Given the description of an element on the screen output the (x, y) to click on. 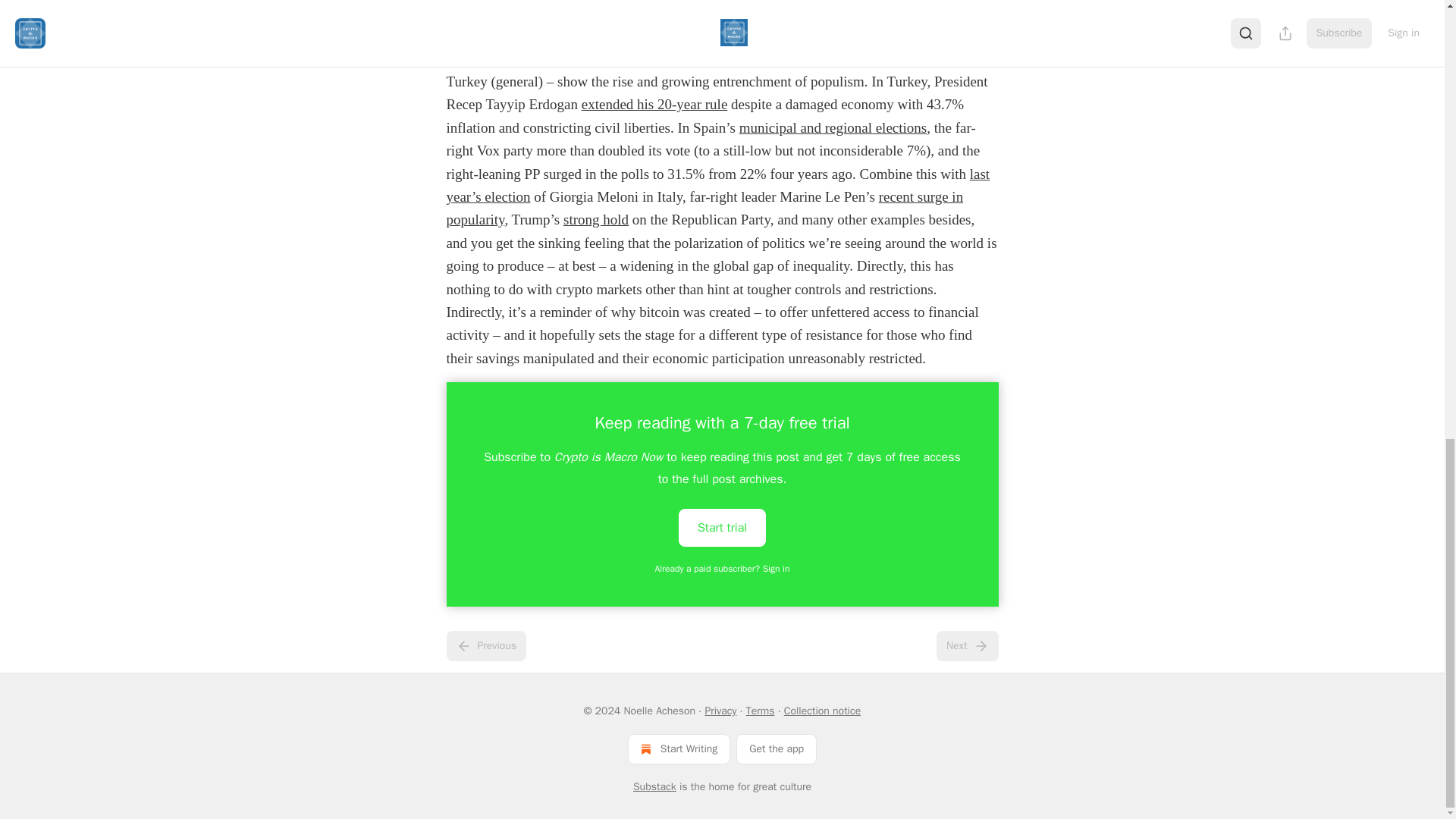
Start Writing (678, 748)
extended his 20-year rule (654, 104)
Get the app (776, 748)
strong hold (595, 219)
Start trial (721, 526)
recent surge in popularity (703, 208)
Terms (759, 710)
Start trial (721, 527)
municipal and regional elections (832, 127)
Collection notice (822, 710)
Already a paid subscriber? Sign in (722, 568)
Previous (485, 645)
Privacy (720, 710)
Next (966, 645)
